Given the description of an element on the screen output the (x, y) to click on. 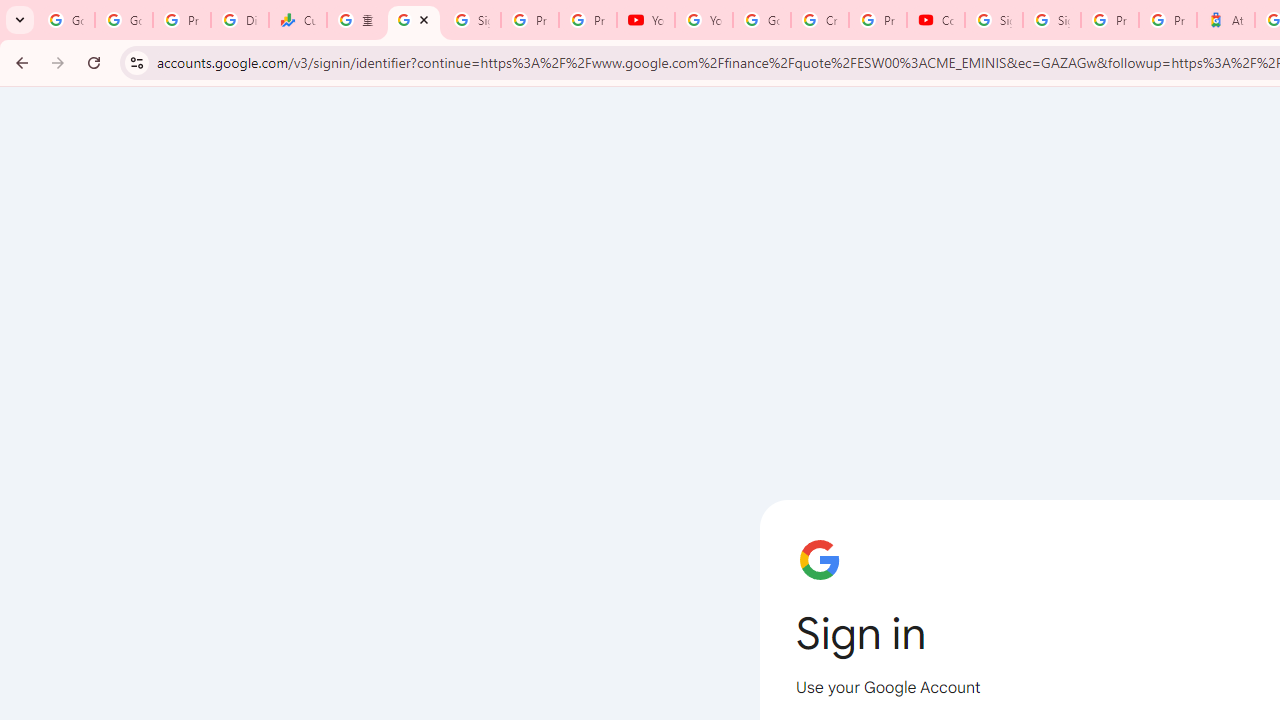
YouTube (703, 20)
YouTube (645, 20)
Sign in - Google Accounts (1051, 20)
Atour Hotel - Google hotels (1225, 20)
Privacy Checkup (587, 20)
Google Account Help (762, 20)
